Given the description of an element on the screen output the (x, y) to click on. 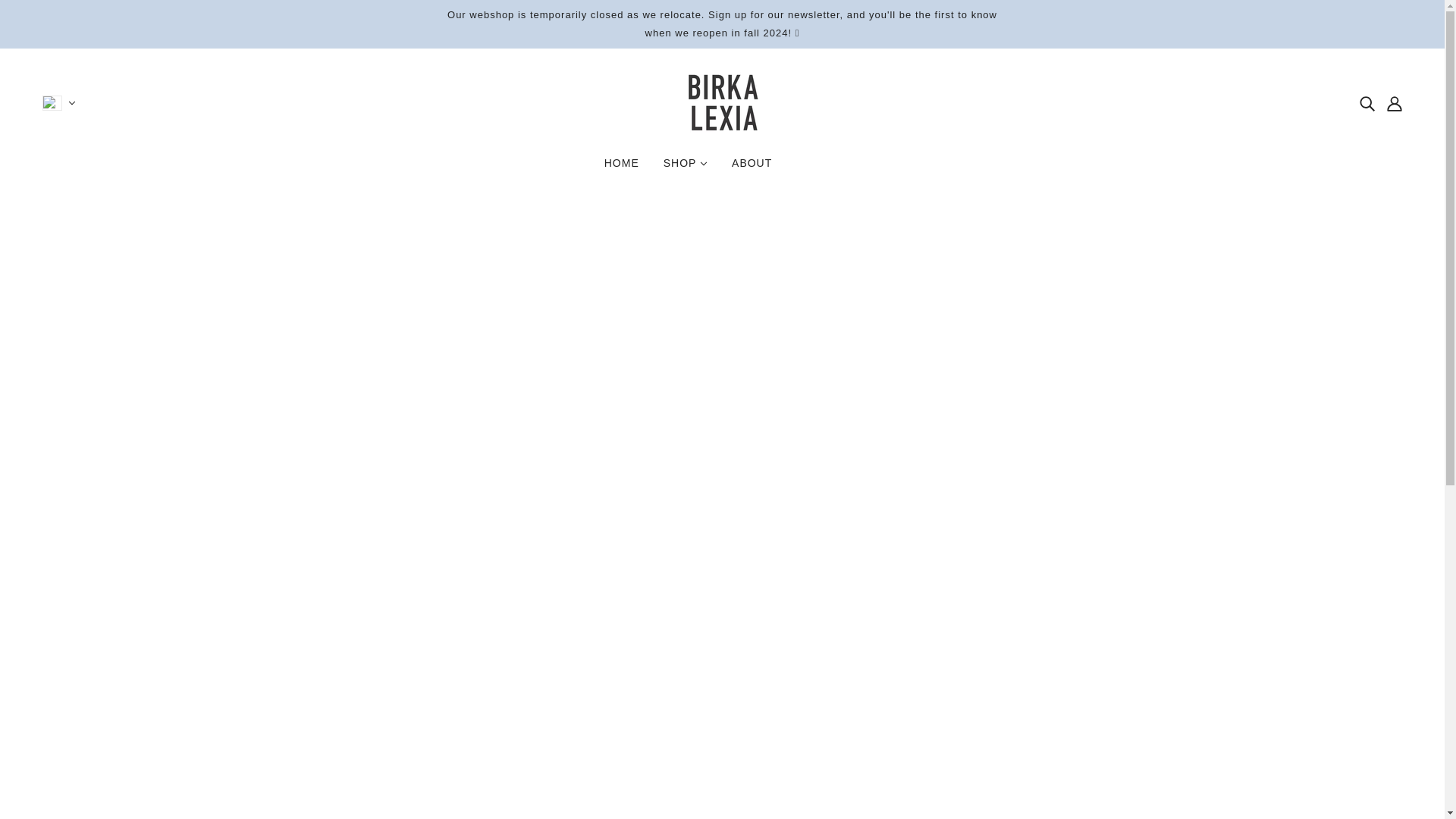
BIRKA LEXIA (722, 127)
HOME (621, 168)
ABOUT (751, 168)
SHOP  (684, 168)
